Given the description of an element on the screen output the (x, y) to click on. 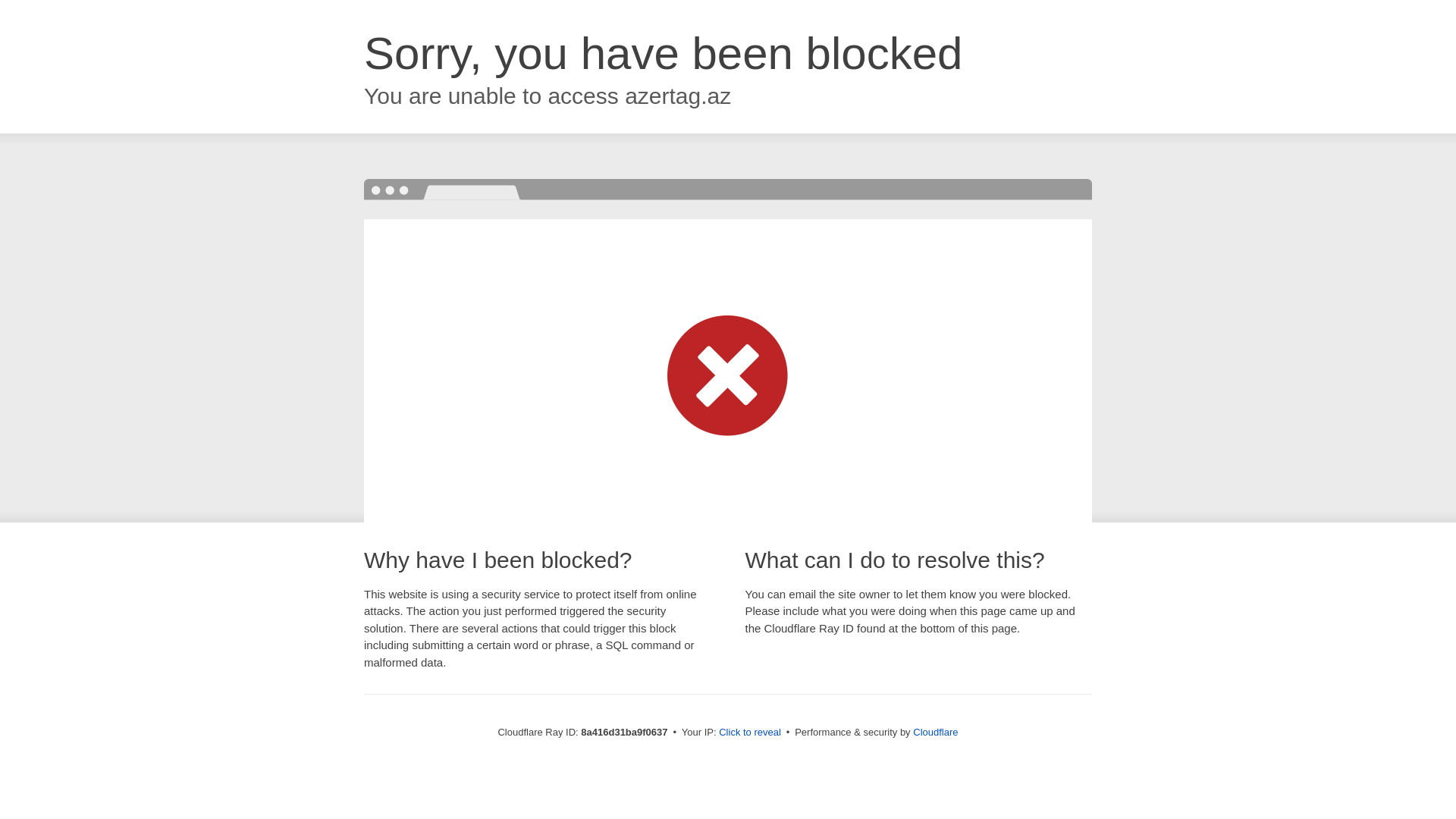
Click to reveal (749, 732)
Cloudflare (935, 731)
